Given the description of an element on the screen output the (x, y) to click on. 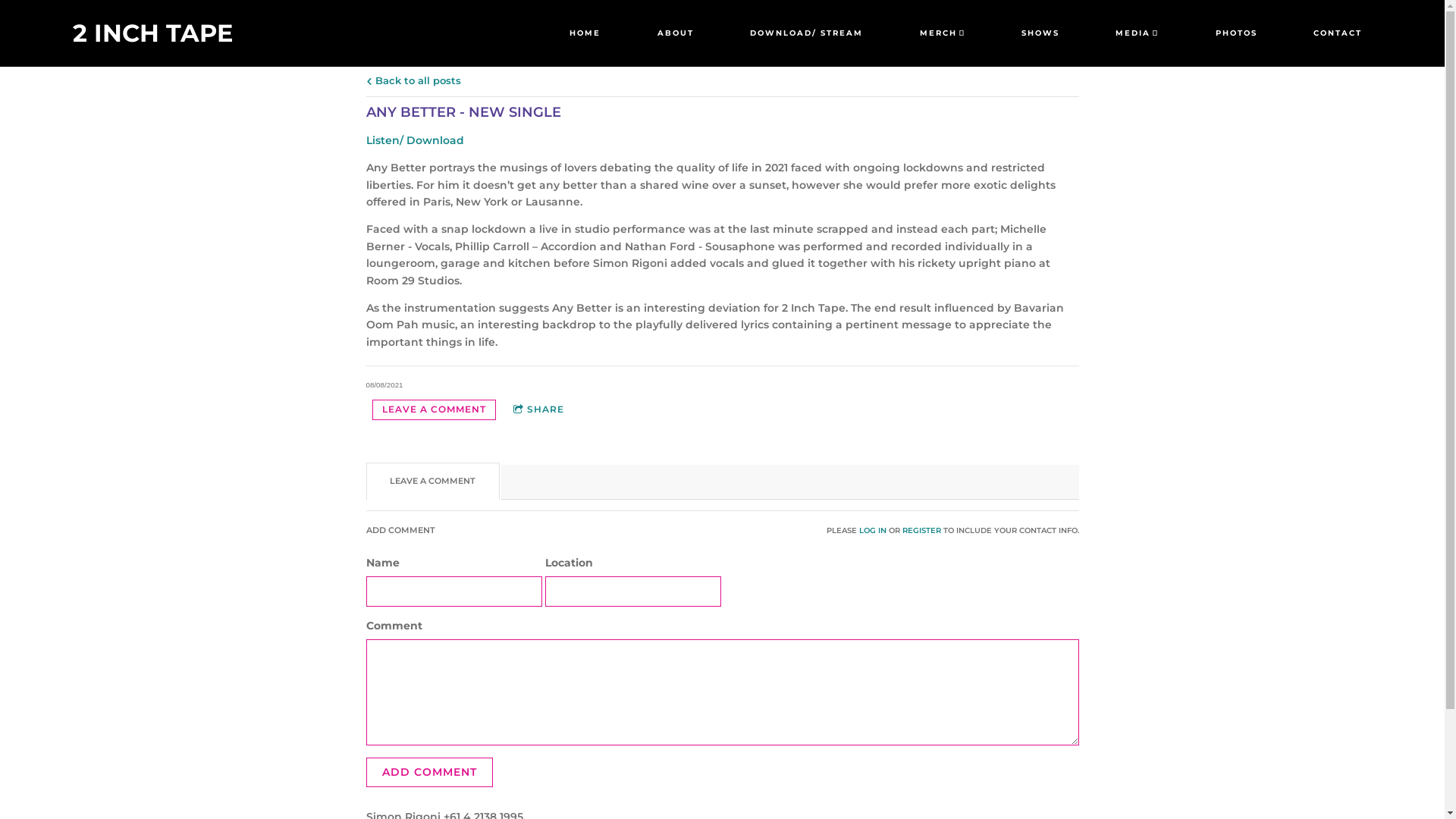
ADD COMMENT Element type: text (428, 771)
LOG IN Element type: text (871, 530)
LEAVE A COMMENT Element type: text (433, 409)
SHARE Element type: text (537, 409)
ABOUT Element type: text (675, 32)
DOWNLOAD/ STREAM Element type: text (806, 32)
MERCH Element type: text (942, 32)
2 INCH TAPE Element type: text (152, 32)
CONTACT Element type: text (1337, 32)
REGISTER Element type: text (921, 530)
MEDIA Element type: text (1136, 32)
Back to all posts Element type: text (412, 80)
PHOTOS Element type: text (1236, 32)
SHOWS Element type: text (1040, 32)
HOME Element type: text (584, 32)
Listen/ Download Element type: text (414, 140)
